Given the description of an element on the screen output the (x, y) to click on. 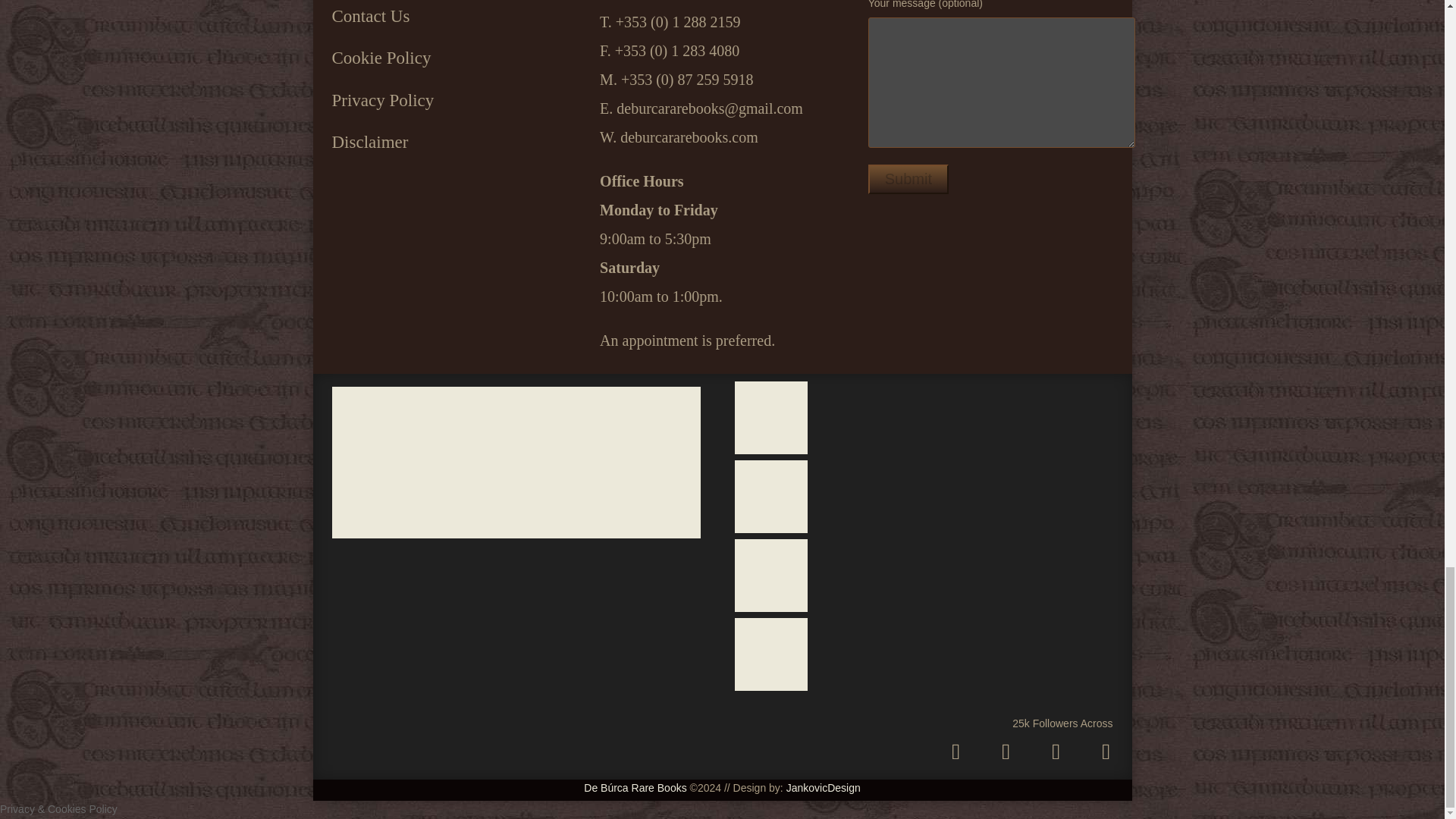
Follow on Instagram (954, 751)
Follow on Facebook (1055, 751)
Follow on X (1005, 751)
4-Logos-with-Text-2-350px (516, 462)
Submit (908, 179)
Follow on Youtube (1104, 751)
